Given the description of an element on the screen output the (x, y) to click on. 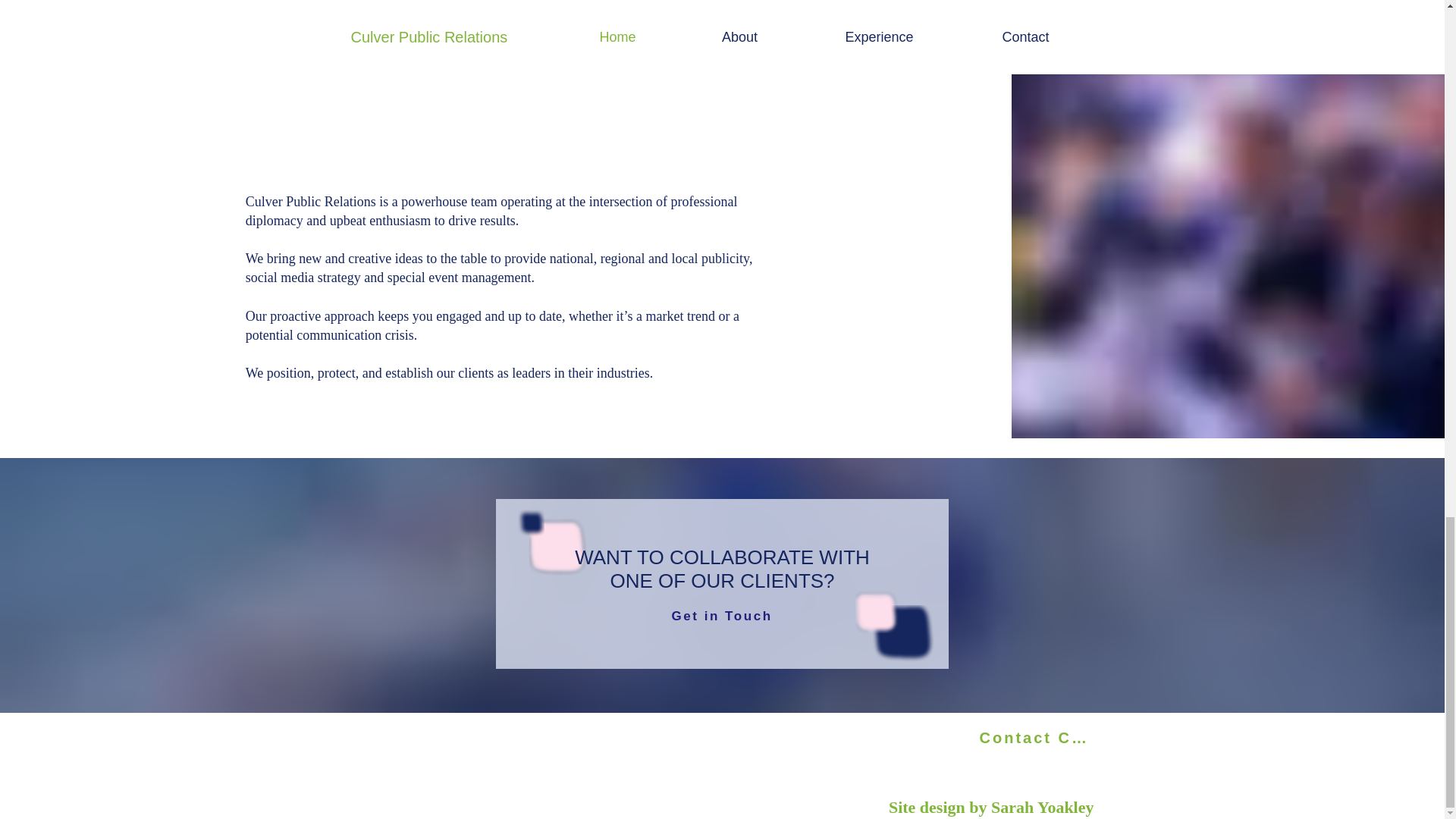
Contact CPR (1036, 738)
Untitled-7.png (558, 545)
Get in Touch (722, 616)
Sarah Yoakley (1042, 806)
Untitled-7.png (877, 611)
Untitled-7.png (528, 521)
Untitled-7.png (895, 637)
